Given the description of an element on the screen output the (x, y) to click on. 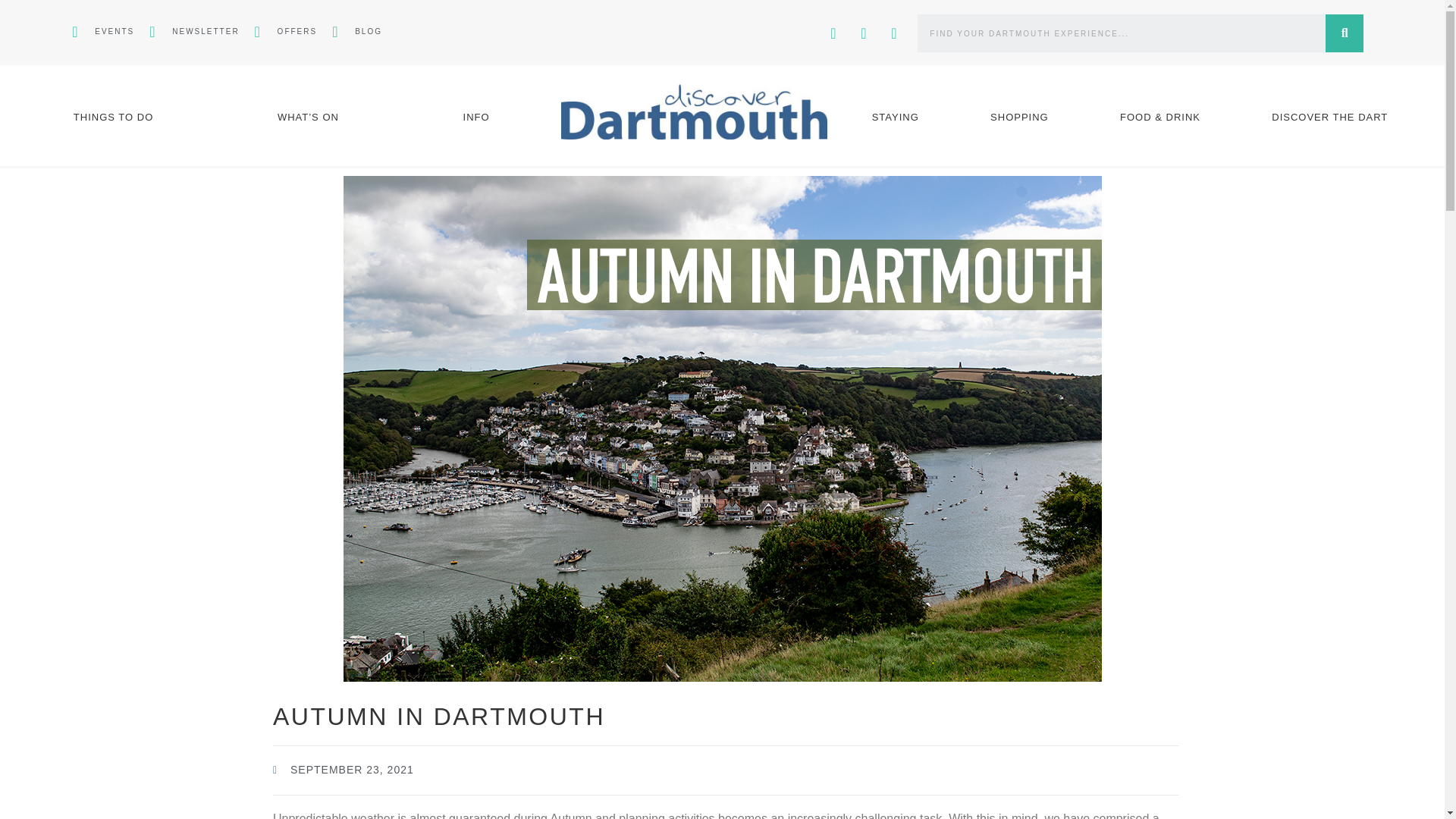
THINGS TO DO (113, 117)
Search (1343, 33)
OFFERS (285, 31)
NEWSLETTER (193, 31)
Search (1121, 33)
INFO (476, 117)
EVENTS (102, 31)
BLOG (356, 31)
